Given the description of an element on the screen output the (x, y) to click on. 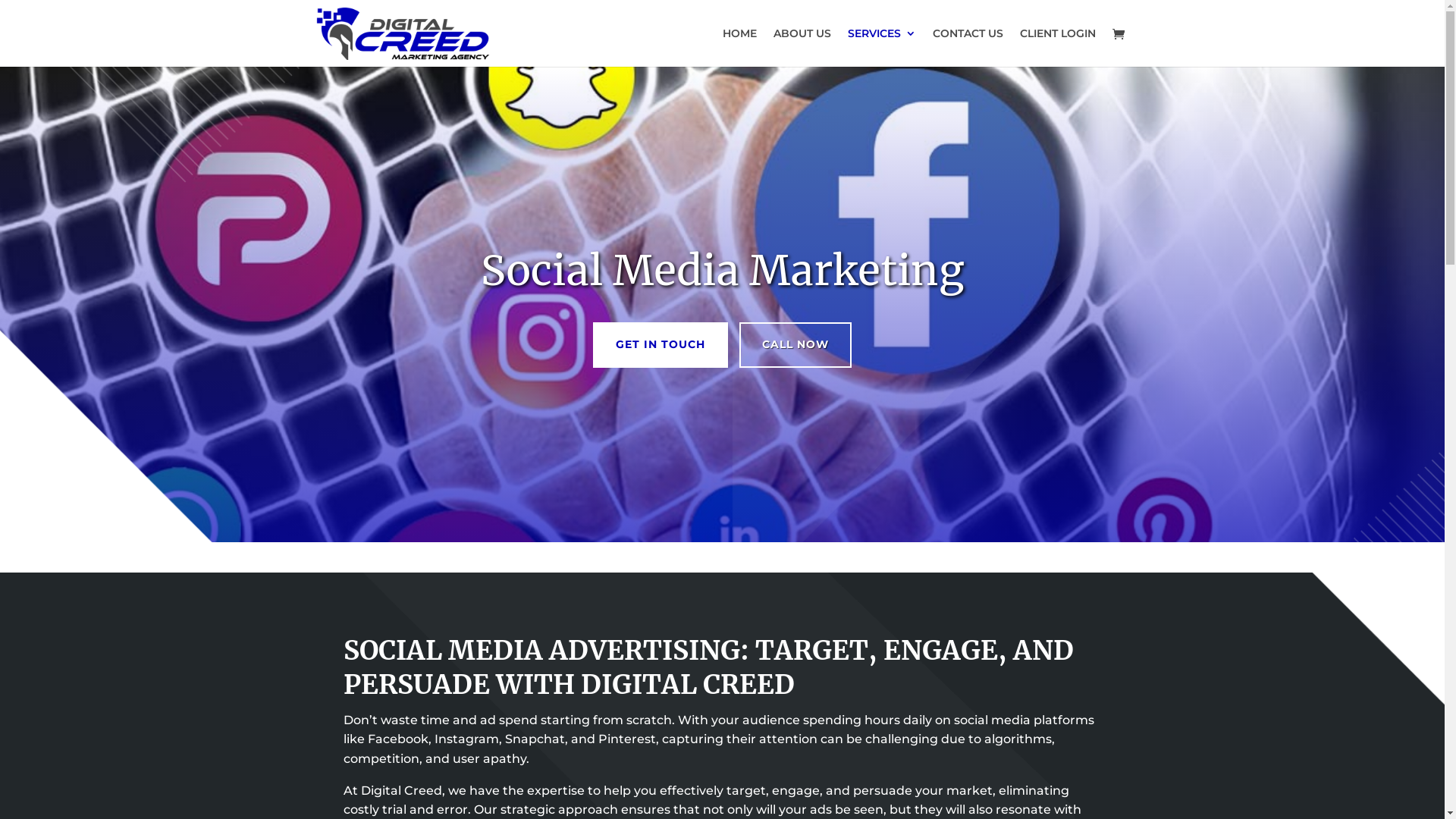
GET IN TOUCH Element type: text (660, 344)
HOME Element type: text (738, 47)
CLIENT LOGIN Element type: text (1057, 47)
CONTACT US Element type: text (967, 47)
SERVICES Element type: text (881, 47)
CALL NOW Element type: text (795, 344)
ABOUT US Element type: text (802, 47)
